Given the description of an element on the screen output the (x, y) to click on. 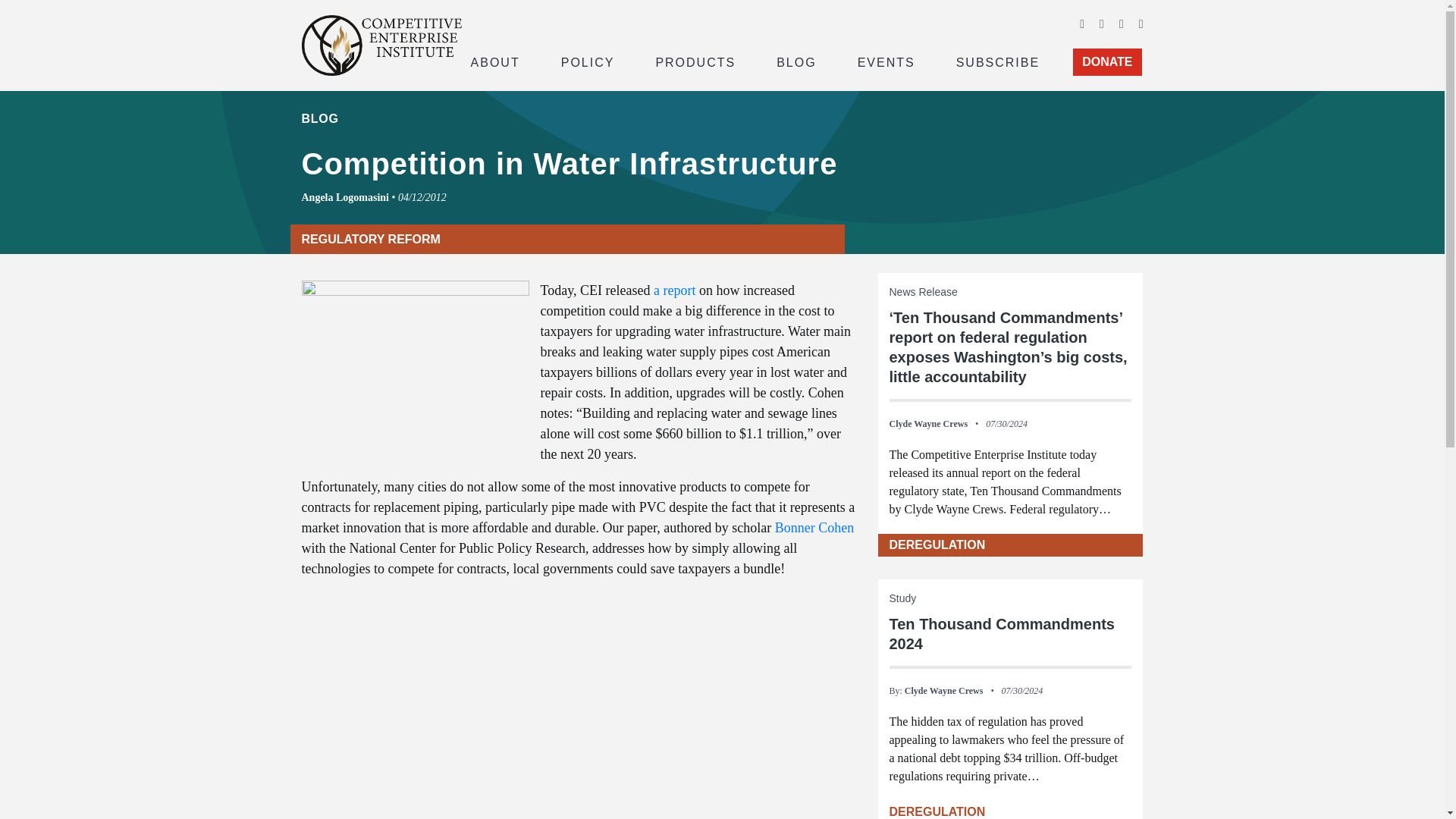
ABOUT (495, 61)
DONATE (1107, 62)
EVENTS (886, 61)
POLICY (588, 61)
BLOG (796, 61)
SUBSCRIBE (997, 61)
PRODUCTS (694, 61)
